Given the description of an element on the screen output the (x, y) to click on. 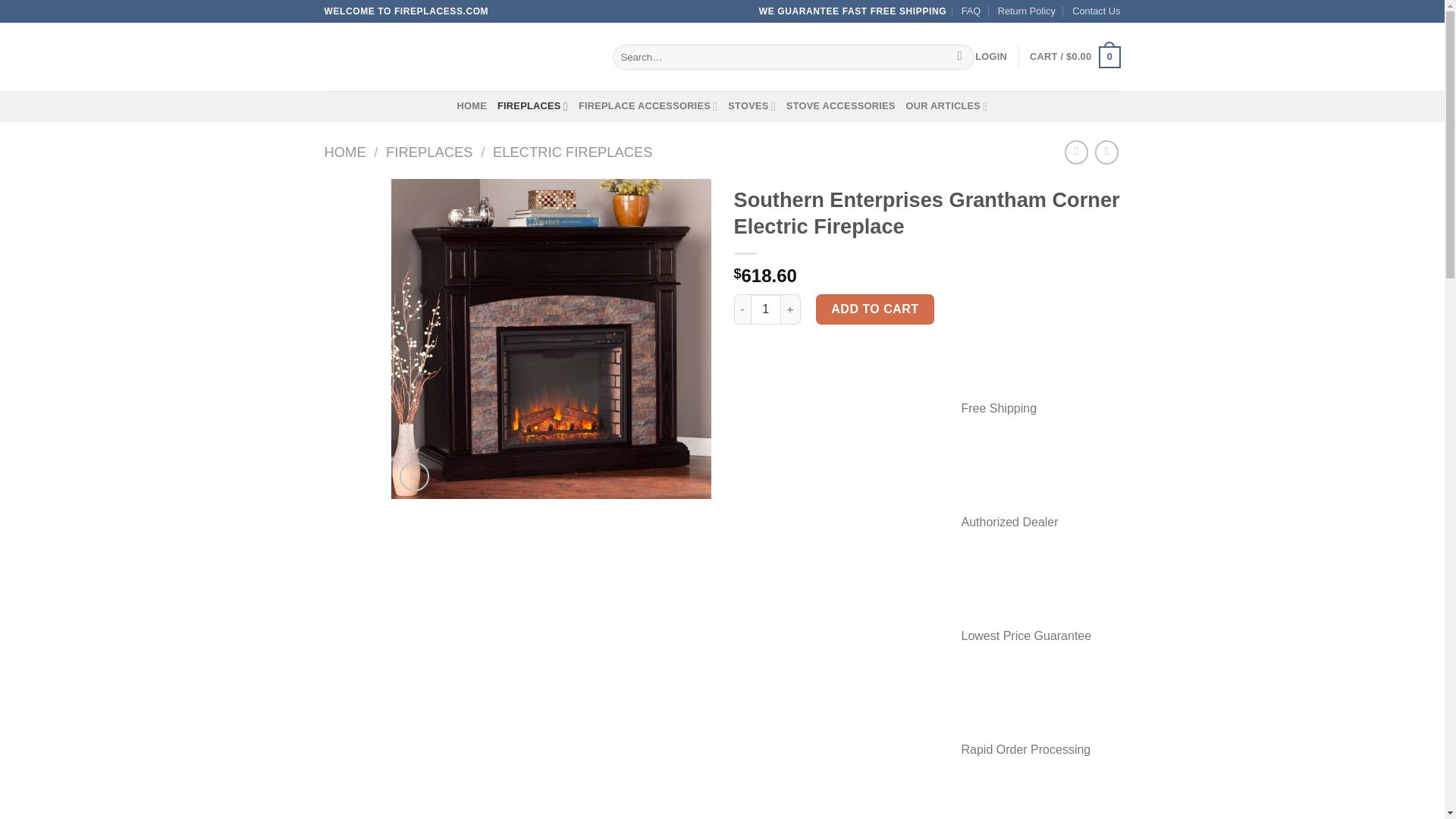
- (742, 309)
Fireplacess.com - Cheap Fireplaces, Stoves and Accessories (456, 56)
OUR ARTICLES (946, 105)
STOVES (752, 105)
Return Policy (1026, 11)
Southern-Enterprises-Grantham-Corner-Electric-Fireplace-1 (870, 338)
Southern-Enterprises-Grantham-Corner-Electric-Fireplace (551, 338)
Search (959, 57)
1 (765, 309)
FIREPLACE ACCESSORIES (647, 105)
LOGIN (991, 56)
FAQ (970, 11)
Southern-Enterprises-Grantham-Corner-Electric-Fireplace-2 (1190, 338)
FIREPLACES (532, 105)
